Given the description of an element on the screen output the (x, y) to click on. 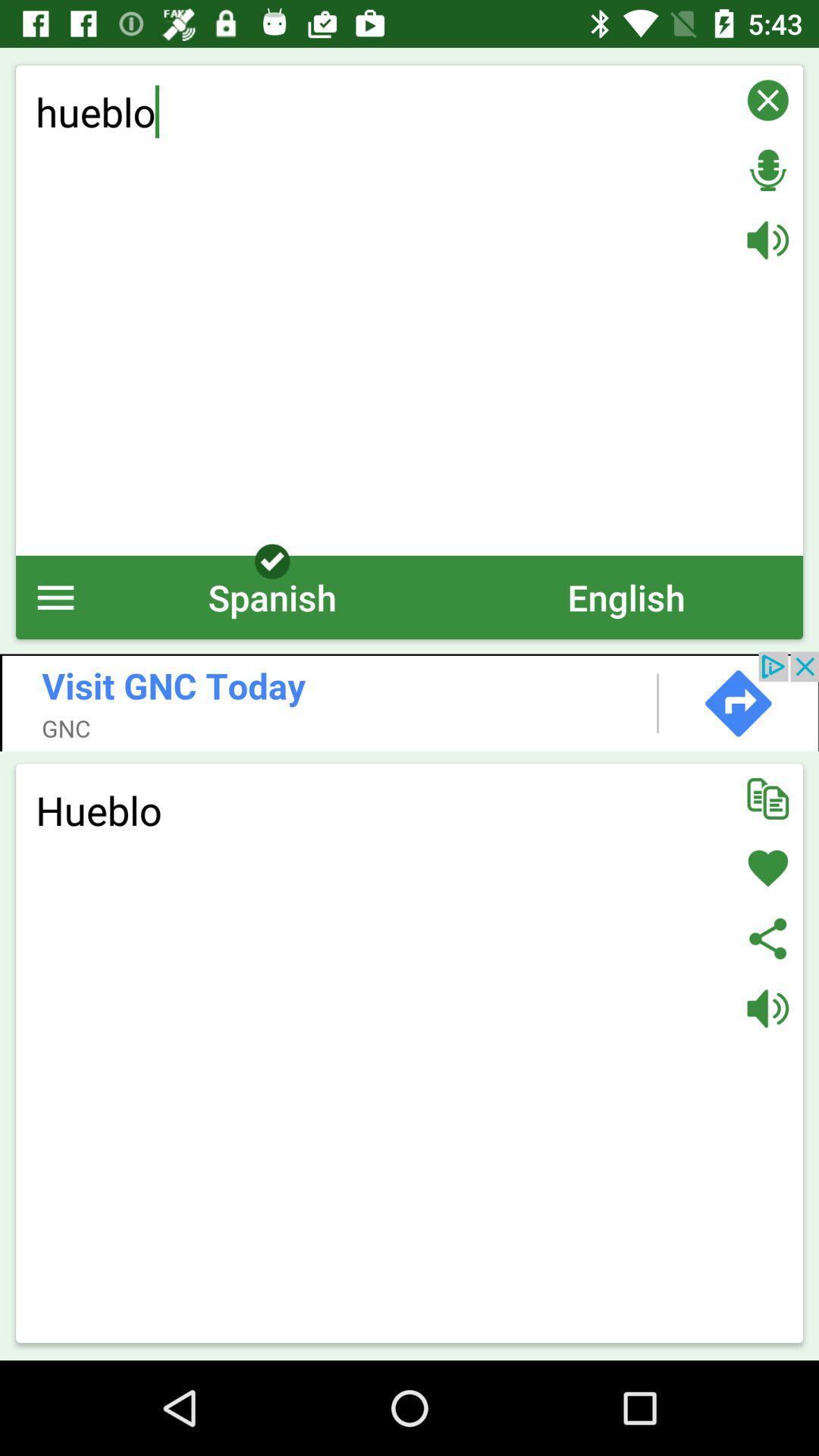
advert field (409, 701)
